Given the description of an element on the screen output the (x, y) to click on. 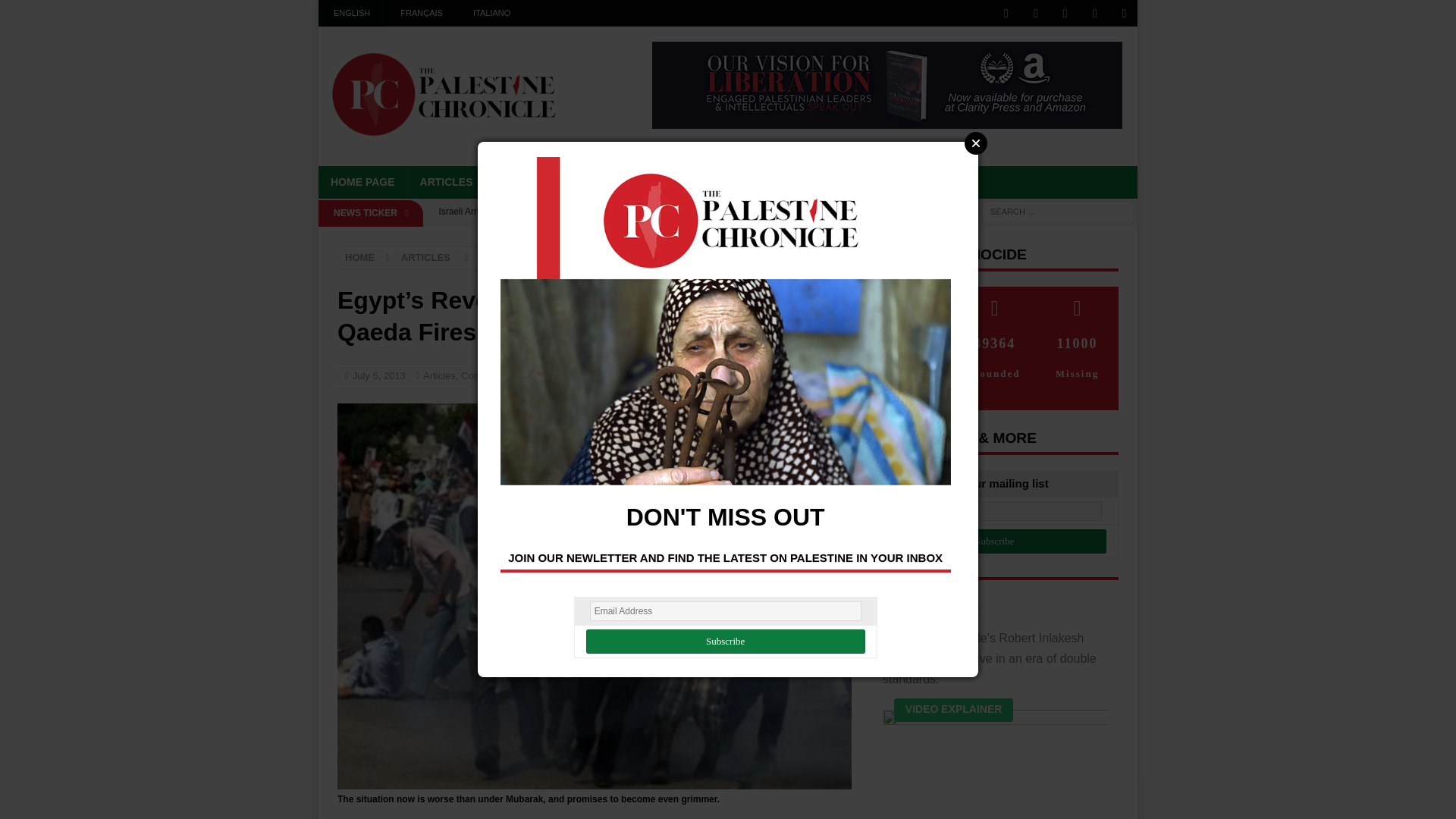
ENGLISH (351, 13)
BLOG (568, 182)
REVIEWS (699, 182)
SUPPORT US (846, 182)
NEWS (512, 182)
HOME (359, 256)
Search (56, 11)
HOME PAGE (362, 182)
VIDEOS (629, 182)
CONTACT US (940, 182)
ARTICLES (445, 182)
ABOUT (767, 182)
Subscribe (994, 541)
Subscribe (725, 641)
